Given the description of an element on the screen output the (x, y) to click on. 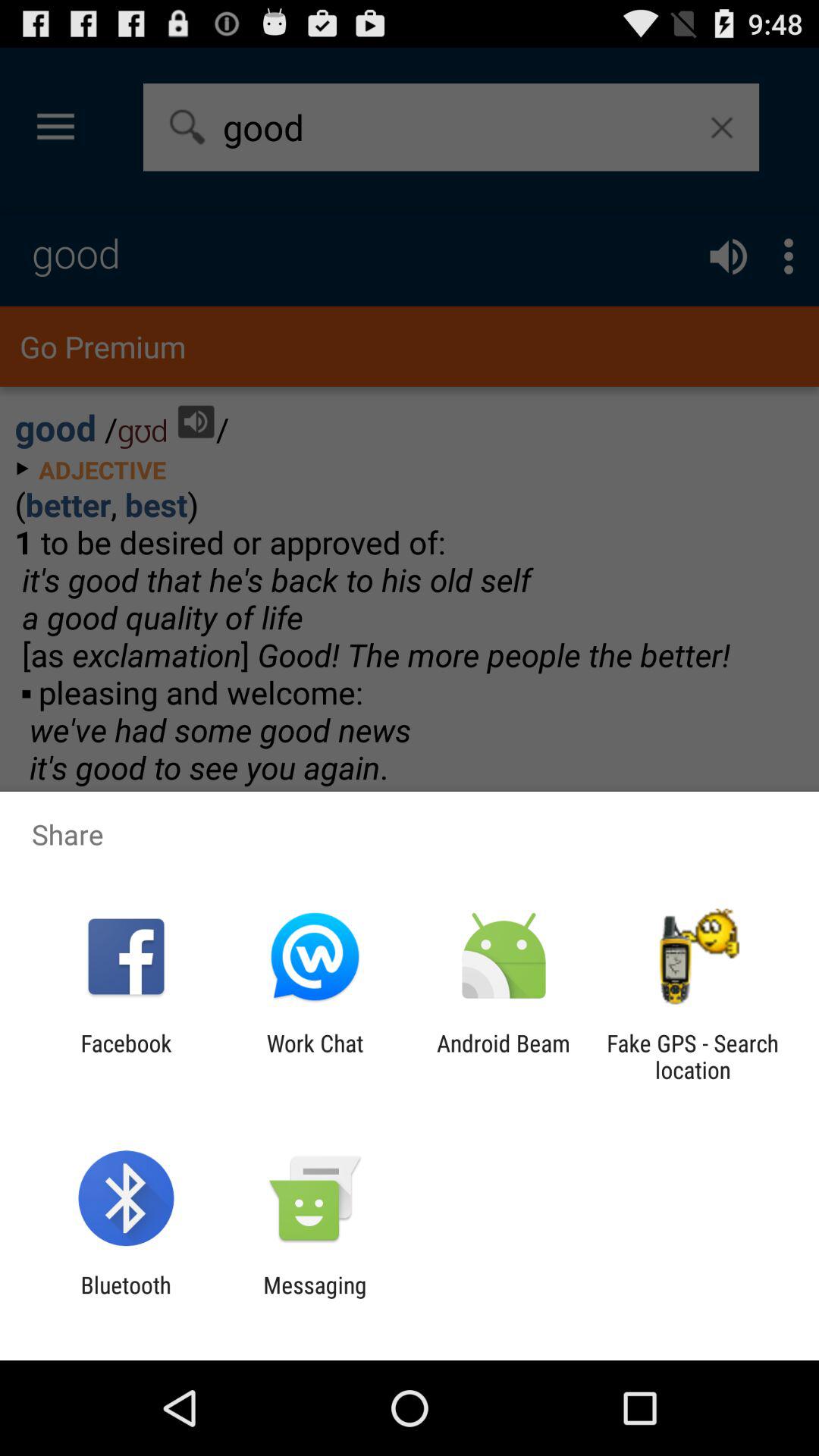
select the bluetooth icon (125, 1298)
